Given the description of an element on the screen output the (x, y) to click on. 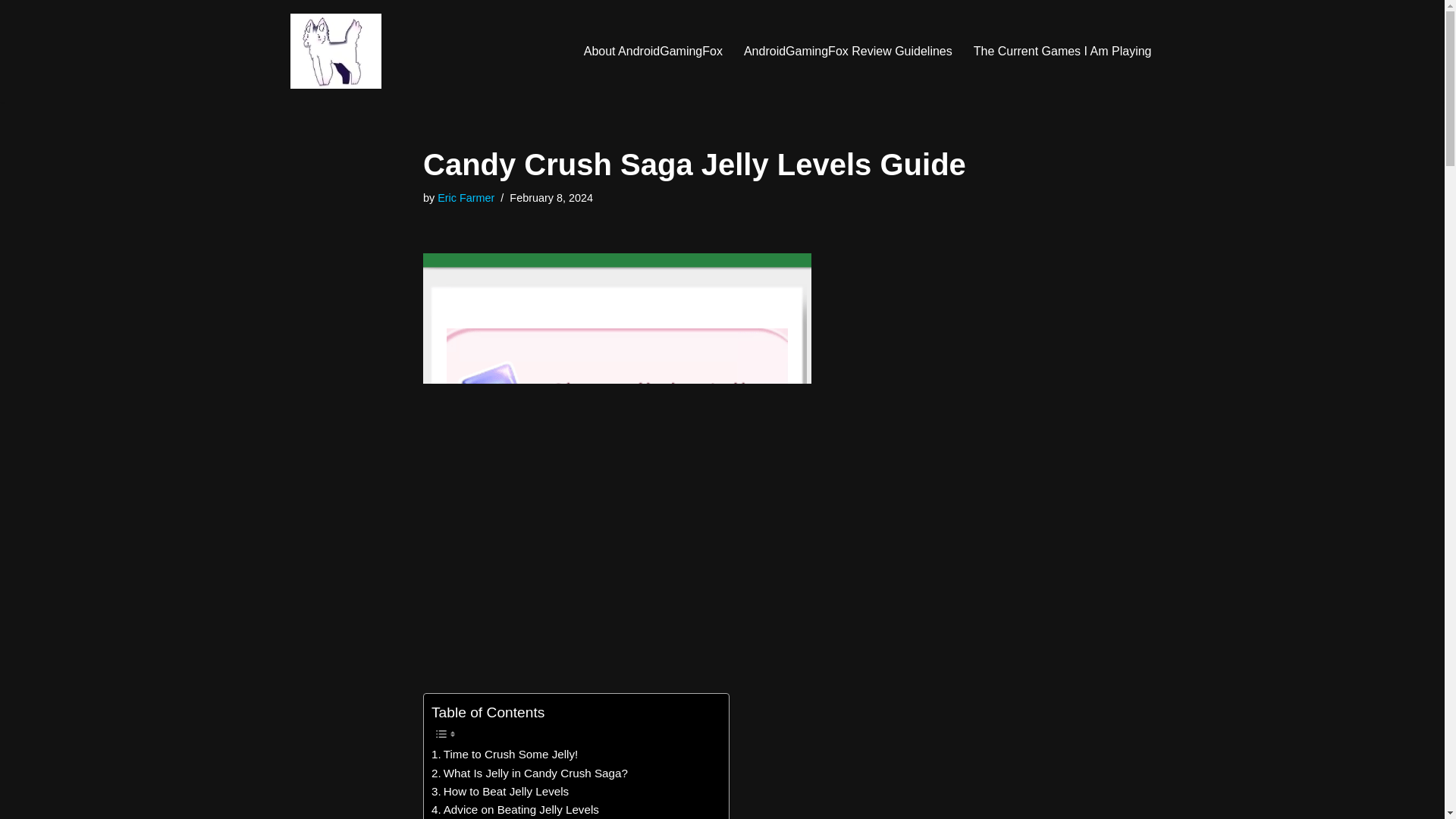
Advice on Beating Jelly Levels (514, 809)
How to Beat Jelly Levels (499, 791)
Eric Farmer (466, 197)
The Current Games I Am Playing (1062, 50)
Posts by Eric Farmer (466, 197)
How to Beat Jelly Levels (499, 791)
What Is Jelly in Candy Crush Saga? (528, 773)
Time to Crush Some Jelly! (504, 754)
Advice on Beating Jelly Levels (514, 809)
AndroidGamingFox Review Guidelines (848, 50)
What Is Jelly in Candy Crush Saga? (528, 773)
Time to Crush Some Jelly! (504, 754)
About AndroidGamingFox (652, 50)
Skip to content (11, 31)
